Given the description of an element on the screen output the (x, y) to click on. 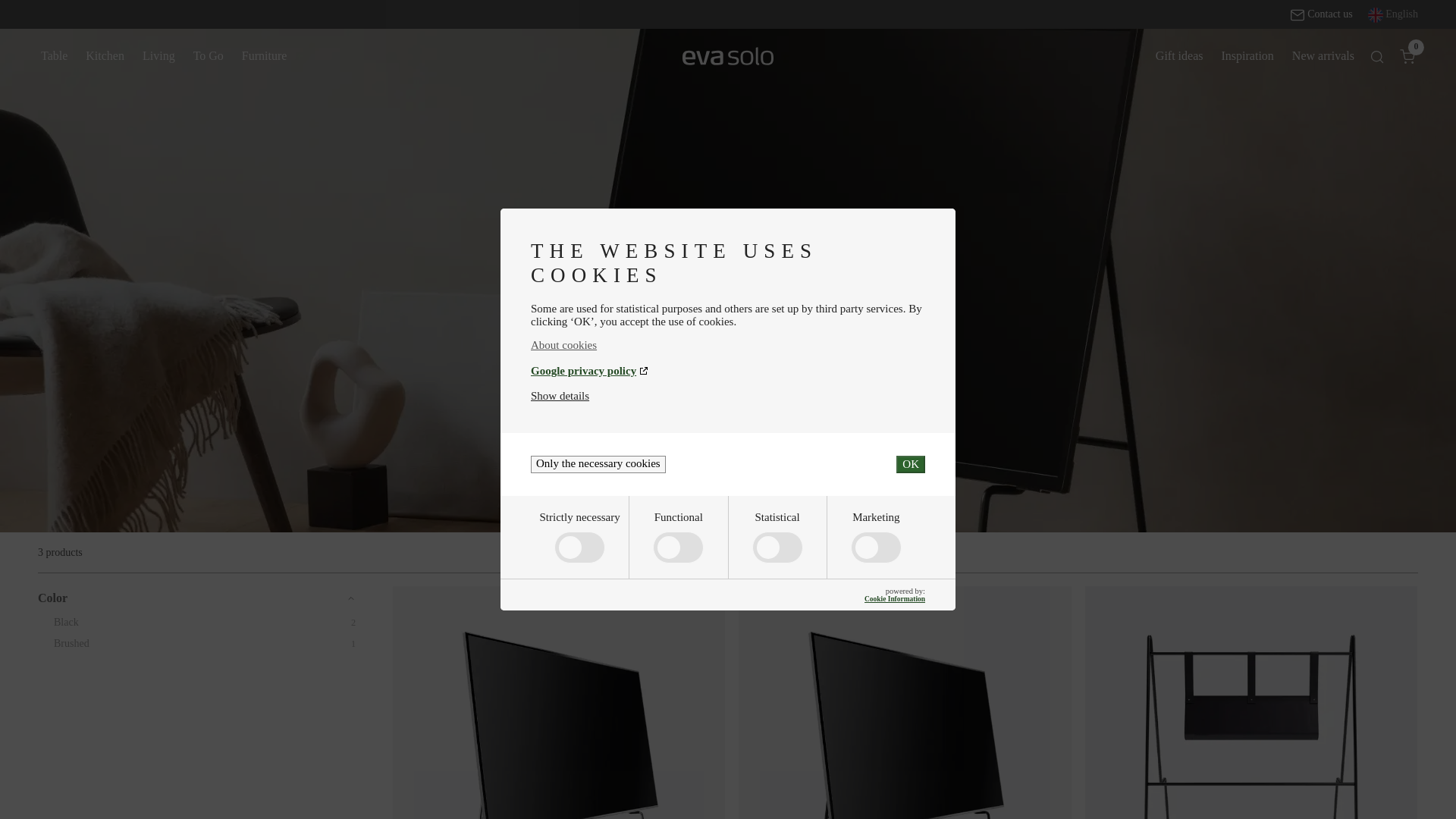
Show details (560, 395)
Google privacy policy (727, 370)
About cookies (727, 345)
